Given the description of an element on the screen output the (x, y) to click on. 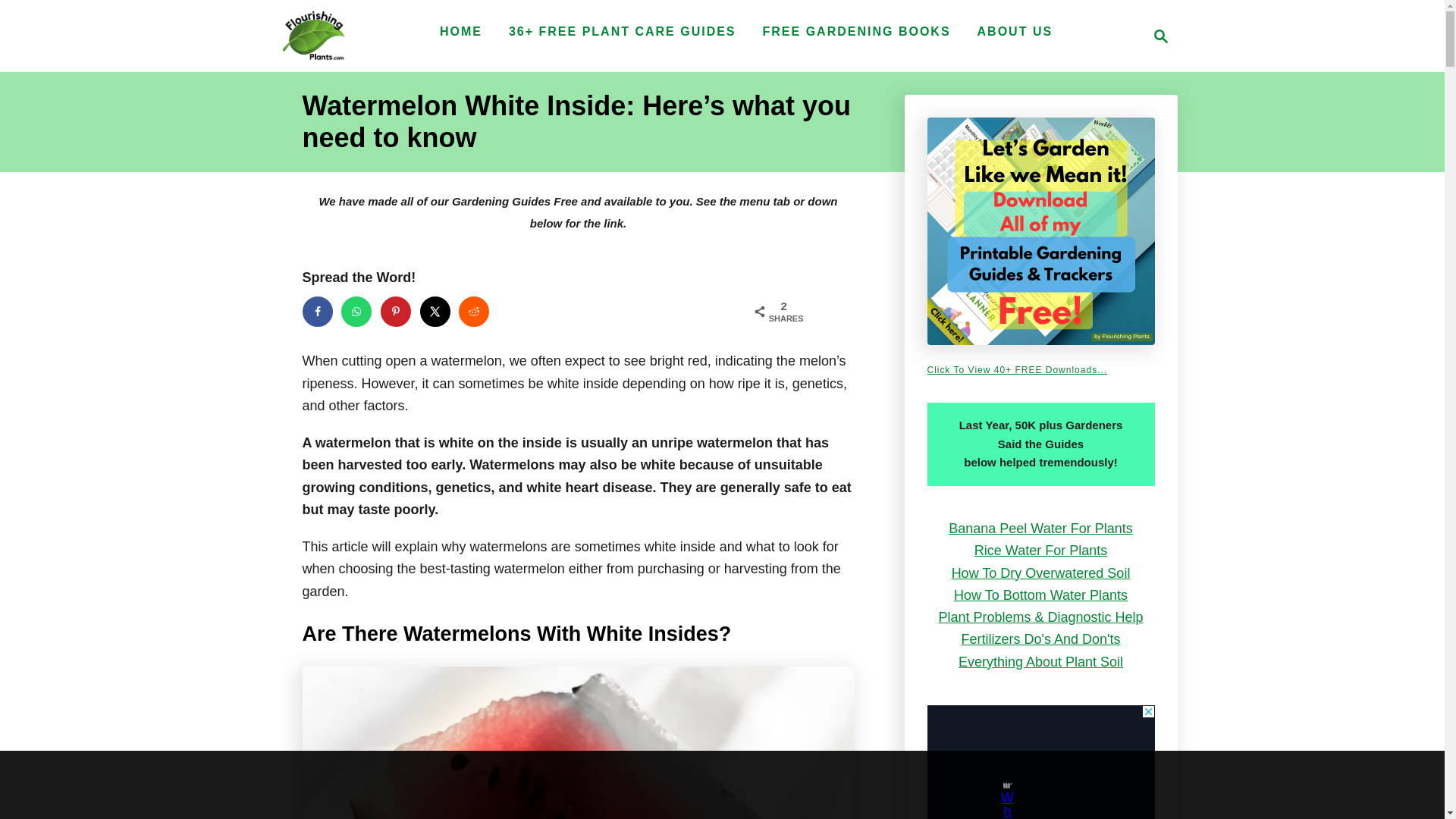
Save to Pinterest (395, 311)
Share on X (434, 311)
Share on WhatsApp (355, 311)
Share on Reddit (473, 311)
HOME (460, 31)
Watermelon White Inside: Here's what you need to know (577, 742)
ABOUT US (1015, 31)
FREE GARDENING BOOKS (856, 31)
Magnifying Glass (1160, 36)
Flourishing Plants (312, 35)
Share on Facebook (316, 311)
